Given the description of an element on the screen output the (x, y) to click on. 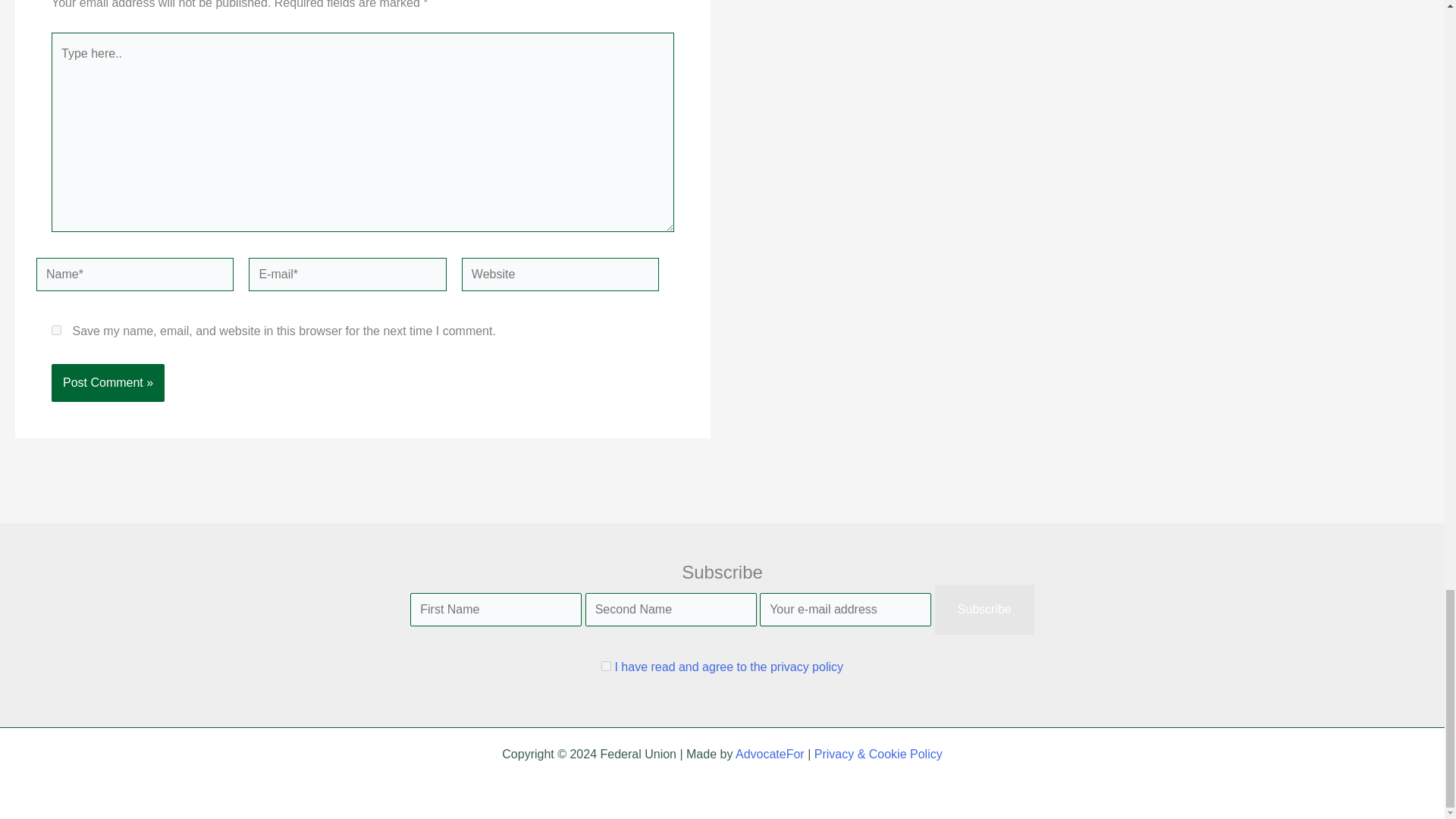
1 (606, 665)
yes (55, 329)
Subscribe (983, 609)
